Given the description of an element on the screen output the (x, y) to click on. 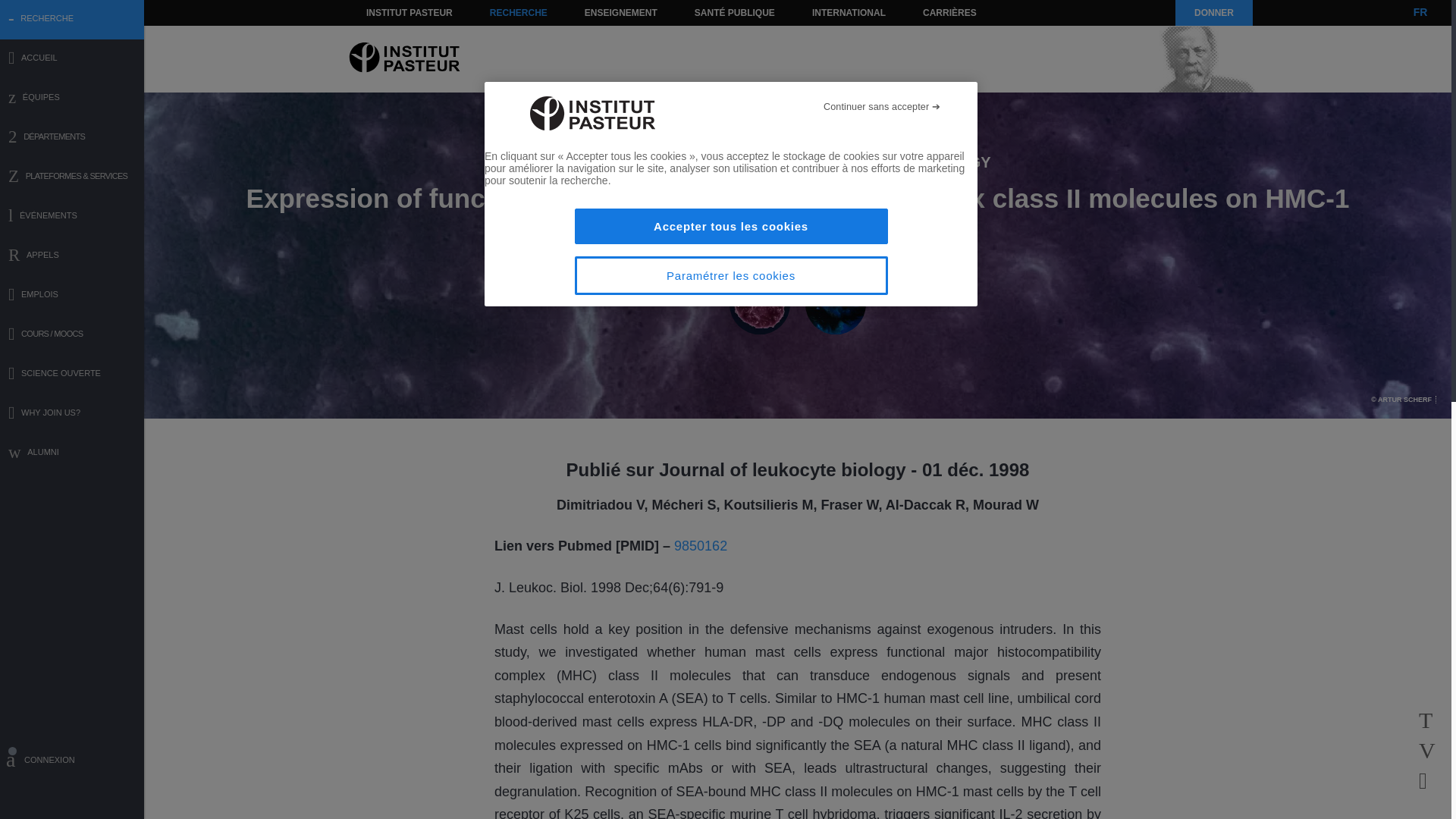
EMPLOIS (72, 296)
ENSEIGNEMENT (620, 12)
Aller au contenu (391, 11)
APPELS (72, 256)
WHY JOIN US? (72, 413)
RECHERCHE (518, 12)
ALUMNI (72, 454)
INSTITUT PASTEUR (409, 12)
Aller au contenu (391, 11)
9850162 (700, 545)
ACCUEIL (72, 59)
INTERNATIONAL (848, 12)
CONNEXION (72, 762)
DONNER (1213, 12)
FR (1419, 11)
